Given the description of an element on the screen output the (x, y) to click on. 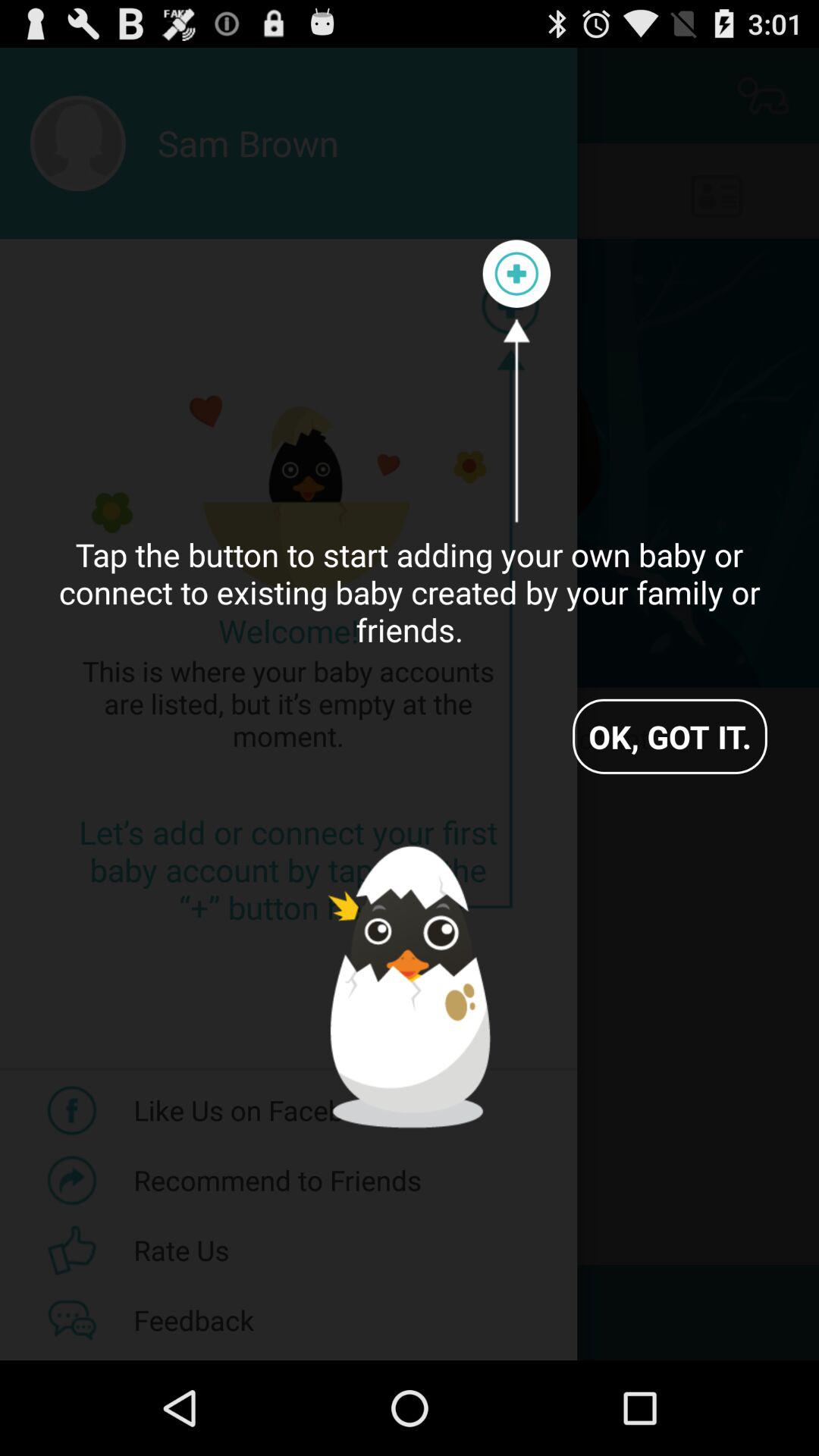
add something (516, 273)
